Given the description of an element on the screen output the (x, y) to click on. 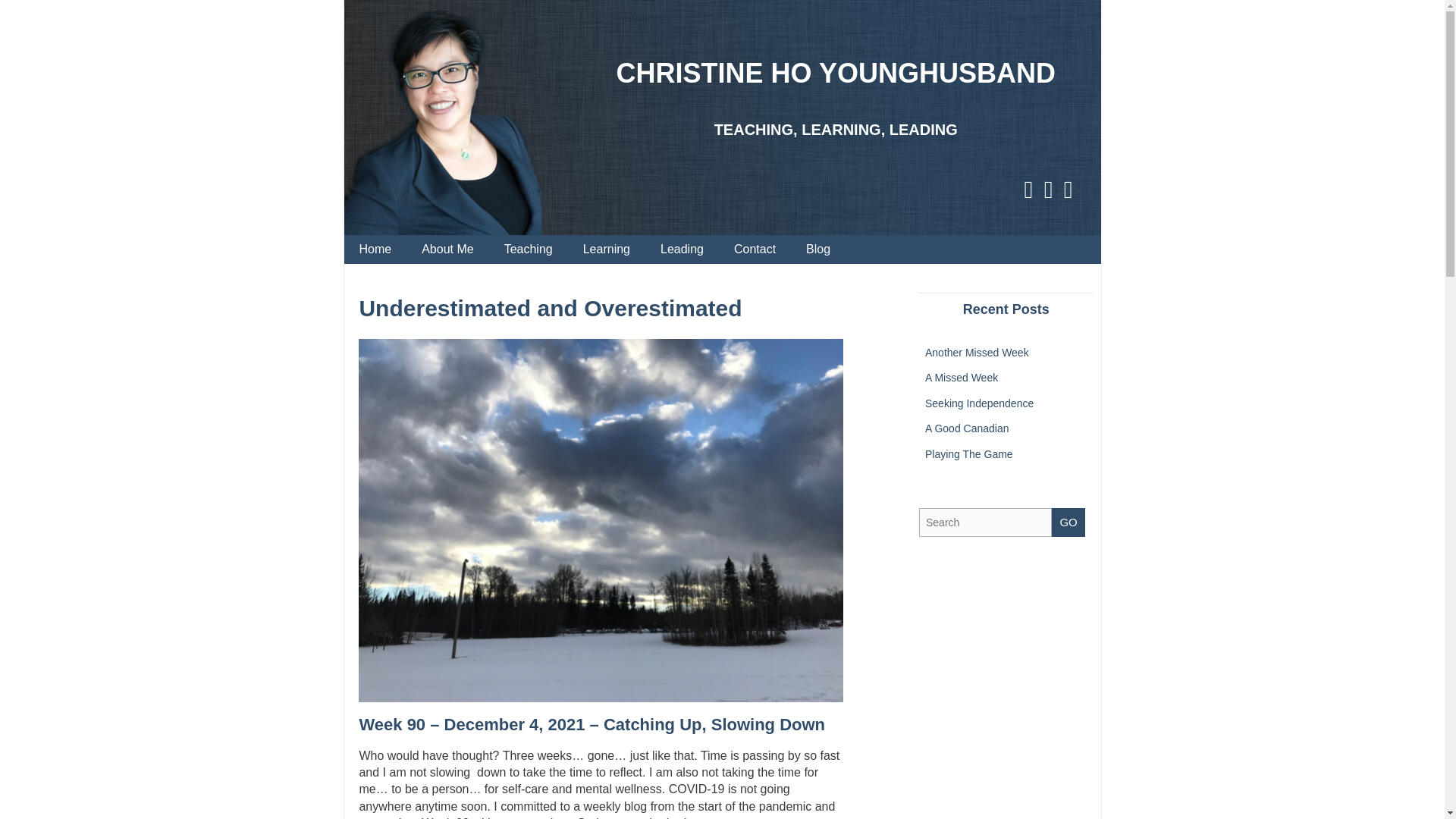
About Me (446, 249)
CHRISTINE HO YOUNGHUSBAND (835, 72)
LinkedIn (1068, 180)
Facebook (1028, 180)
Leading (682, 249)
Contact (754, 249)
Learning (606, 249)
Twitter (1049, 180)
Playing The Game (968, 453)
GO (1067, 522)
Seeking Independence (978, 403)
Blog (817, 249)
Another Missed Week (976, 351)
A Missed Week (960, 377)
Home (375, 249)
